Given the description of an element on the screen output the (x, y) to click on. 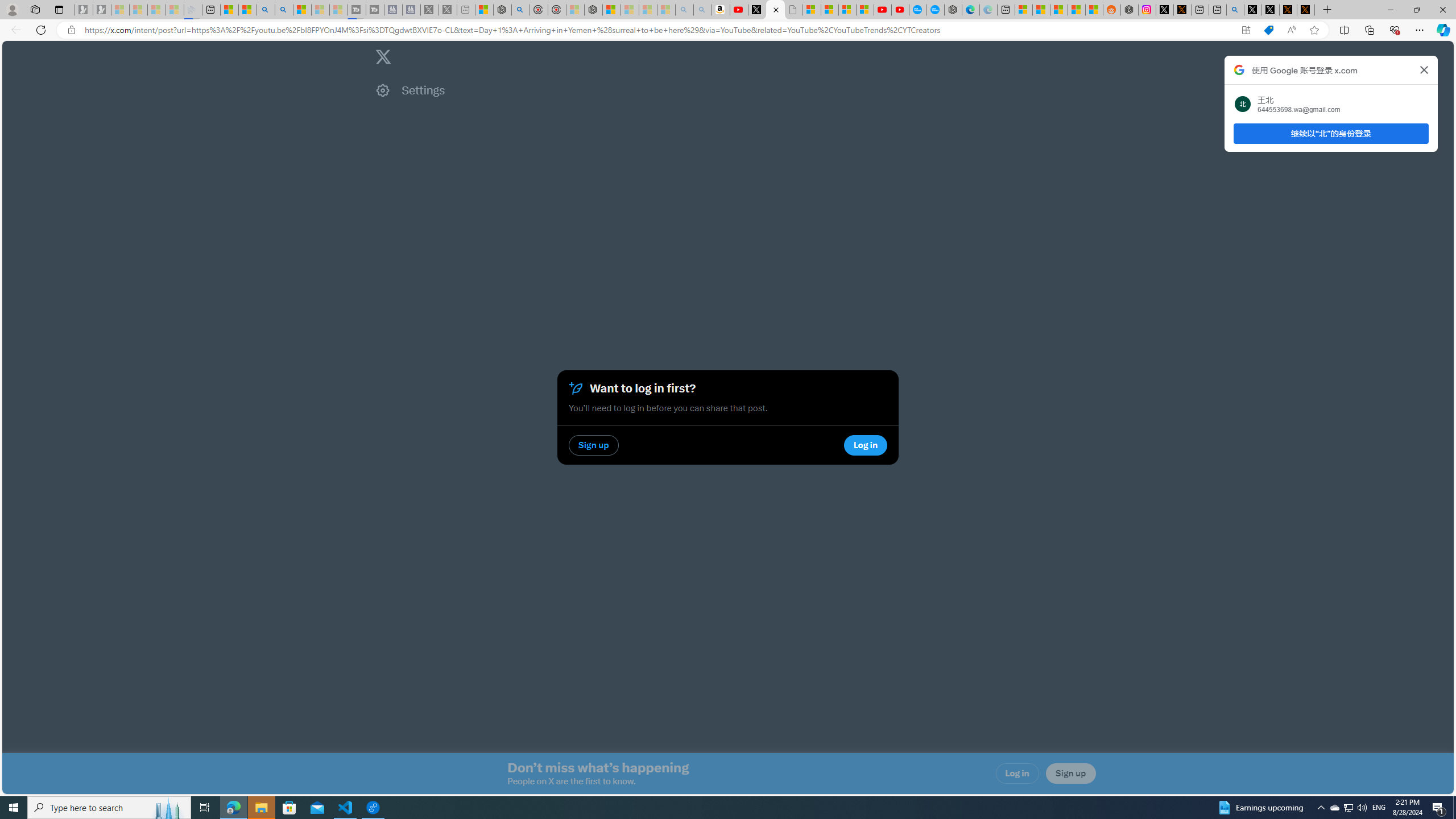
X Privacy Policy (1305, 9)
Search (284, 9)
Nordace - Nordace Siena Is Not An Ordinary Backpack (593, 9)
X - Sleeping (447, 9)
Shopping in Microsoft Edge (1268, 29)
Untitled (794, 9)
Copilot (Ctrl+Shift+.) (1442, 29)
Microsoft account | Microsoft Account Privacy Settings (1023, 9)
Shanghai, China weather forecast | Microsoft Weather (1041, 9)
Browser essentials (1394, 29)
